Given the description of an element on the screen output the (x, y) to click on. 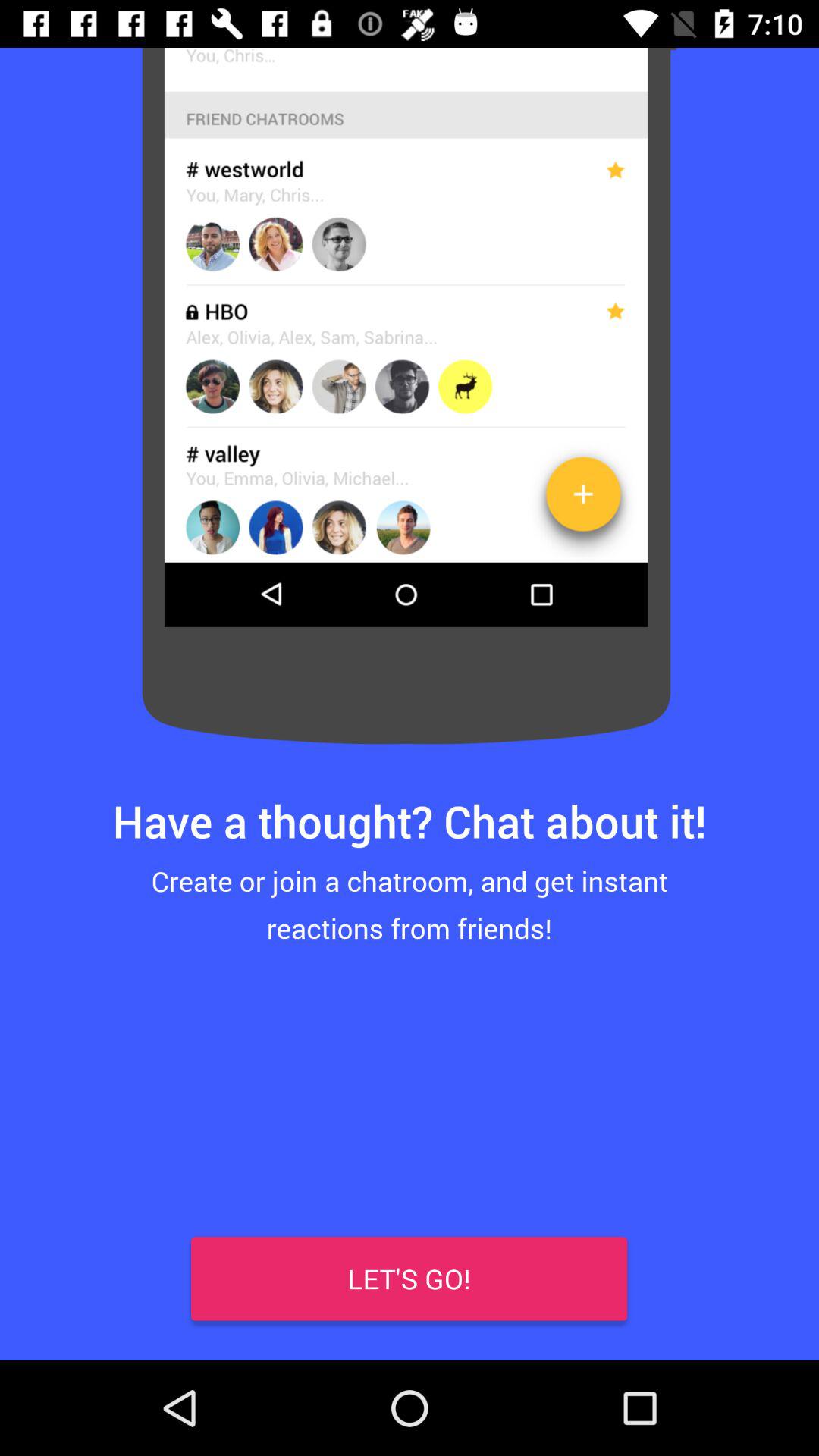
select the icon to the left of let's go! item (47, 1312)
